Given the description of an element on the screen output the (x, y) to click on. 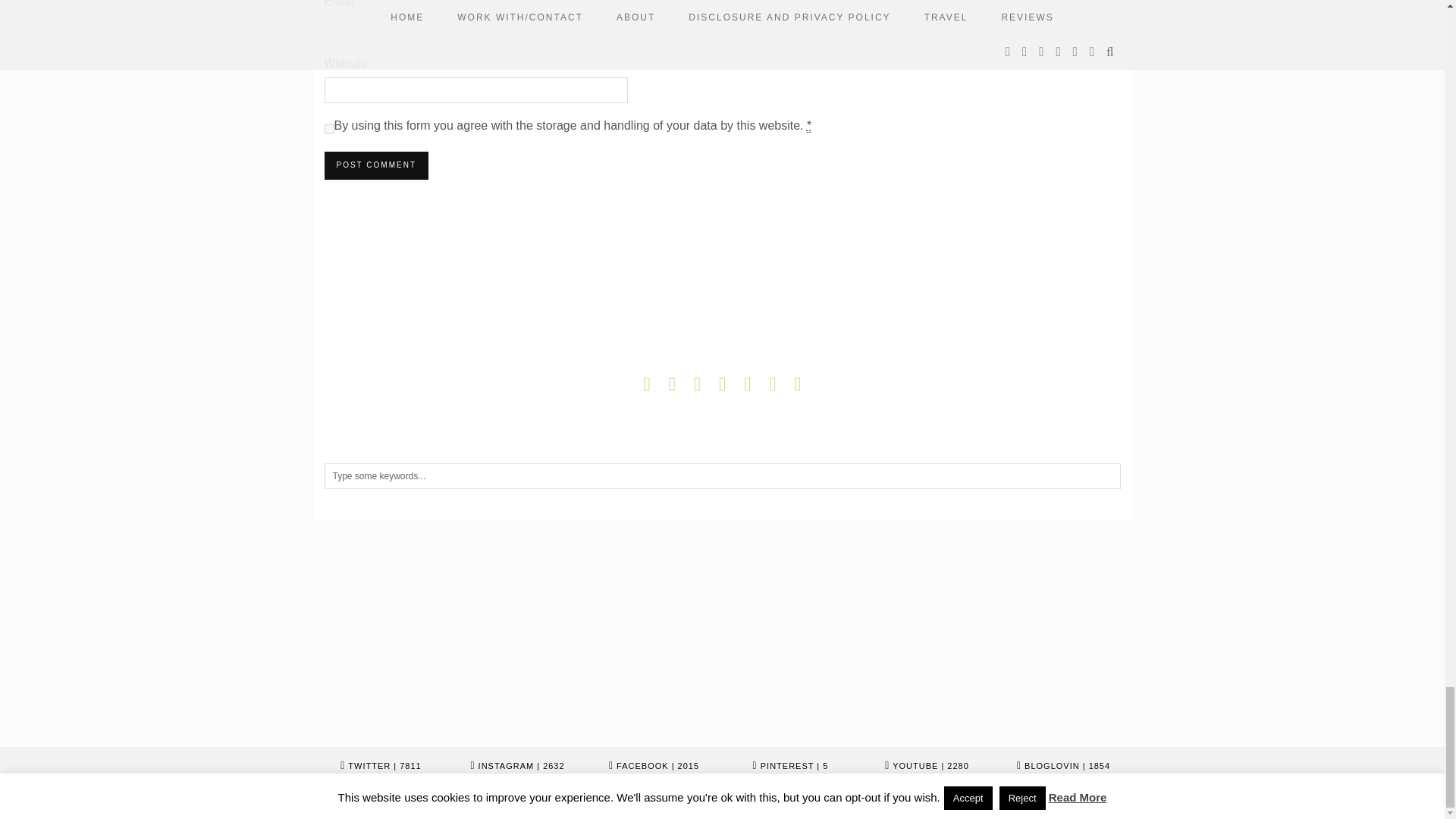
Post Comment (376, 165)
